Given the description of an element on the screen output the (x, y) to click on. 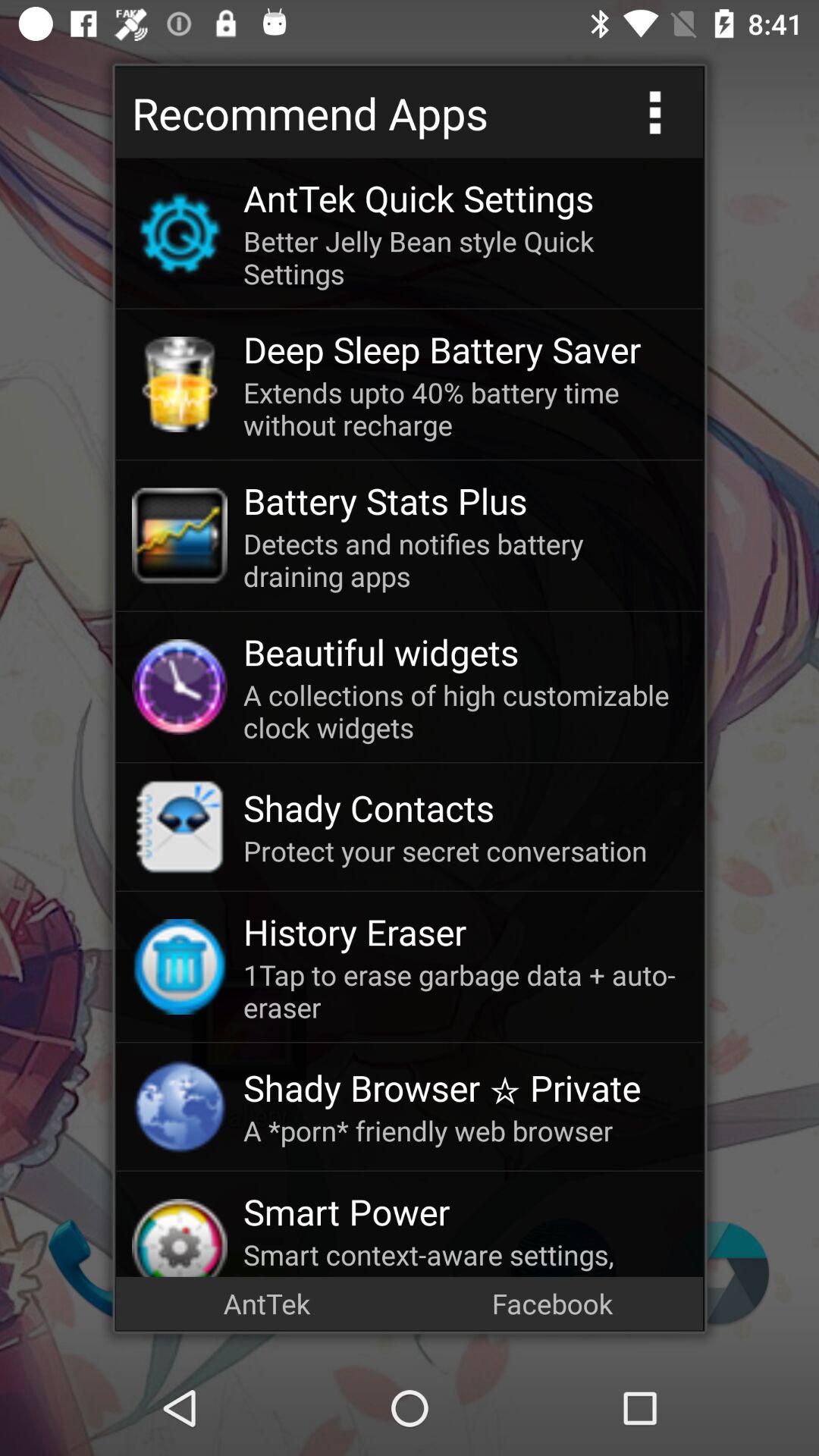
select the app below 1tap to erase app (465, 1087)
